Given the description of an element on the screen output the (x, y) to click on. 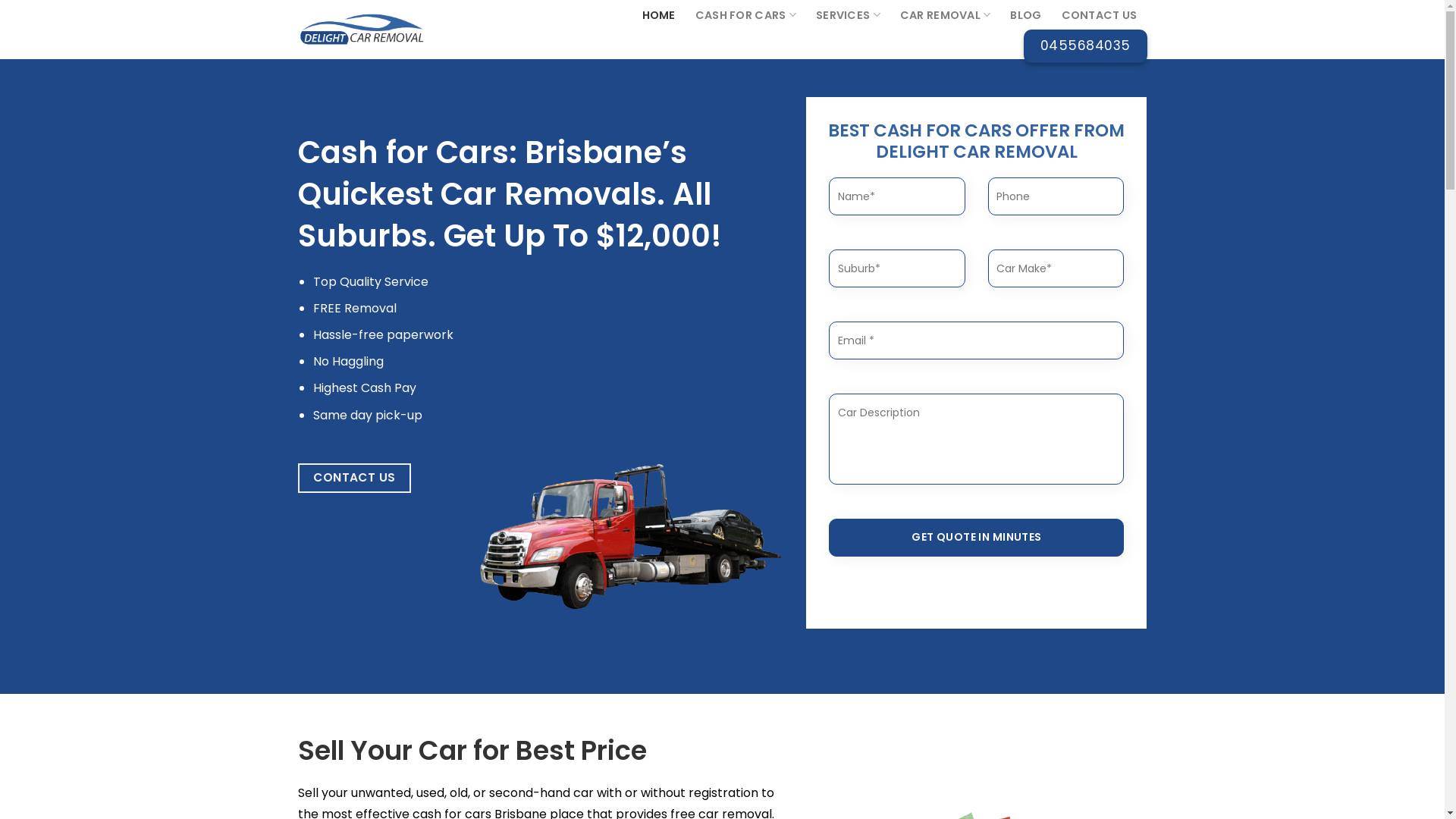
CASH FOR CARS Element type: text (745, 14)
HOME Element type: text (658, 14)
Skip to content Element type: text (0, 0)
Delight Car Removal - DelightCarRemoval Element type: hover (391, 29)
0455684035 Element type: text (1085, 45)
CONTACT US Element type: text (354, 477)
CONTACT US Element type: text (1099, 14)
SERVICES Element type: text (847, 14)
CAR REMOVAL Element type: text (945, 14)
BLOG Element type: text (1025, 14)
Get Quote in Minutes Element type: text (975, 537)
